Given the description of an element on the screen output the (x, y) to click on. 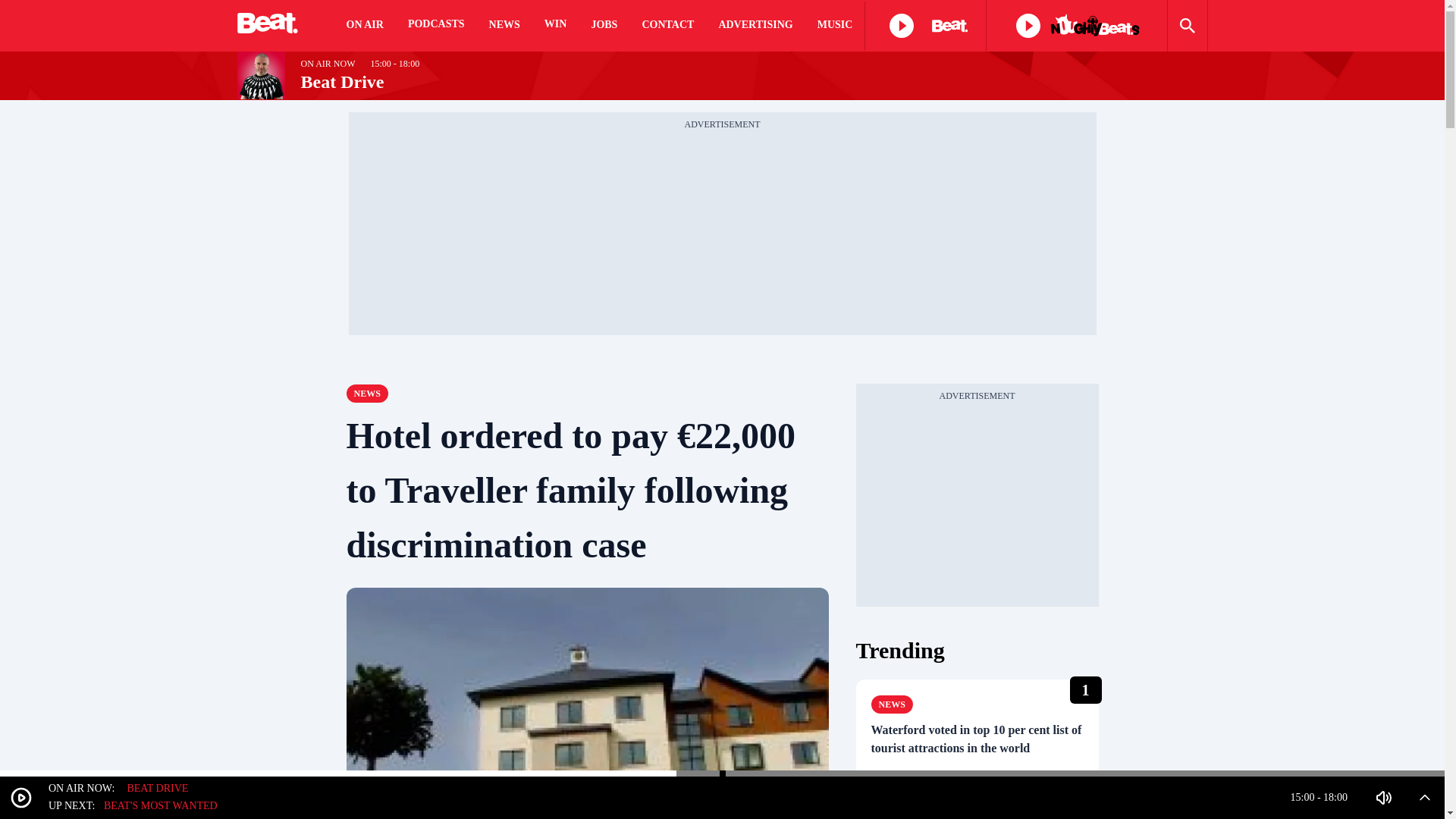
News (891, 704)
News (366, 393)
PODCASTS (435, 25)
